Given the description of an element on the screen output the (x, y) to click on. 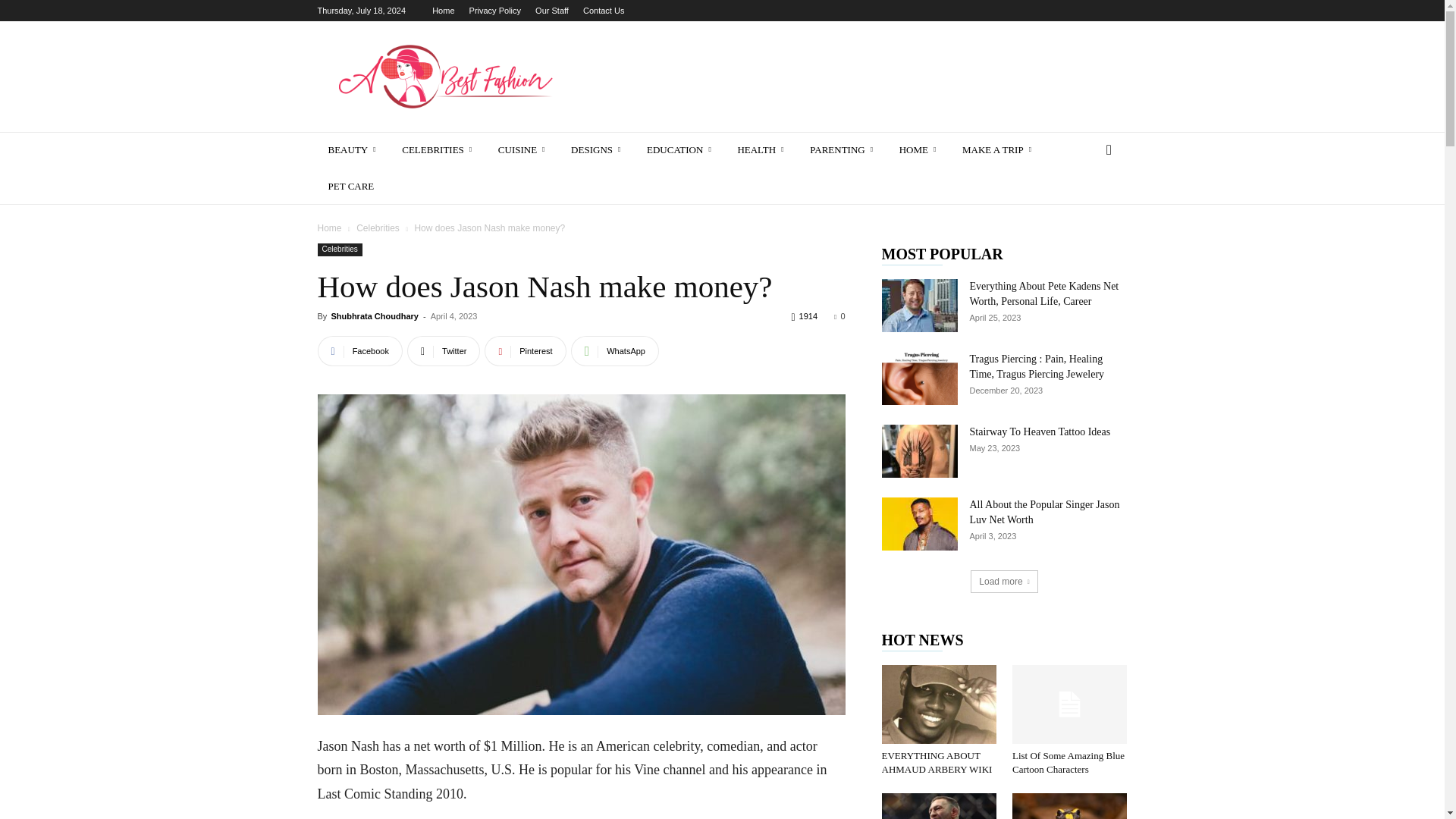
Twitter (443, 350)
WhatsApp (614, 350)
Advertisement (850, 76)
Pinterest (525, 350)
Facebook (359, 350)
View all posts in Celebrities (377, 227)
